Given the description of an element on the screen output the (x, y) to click on. 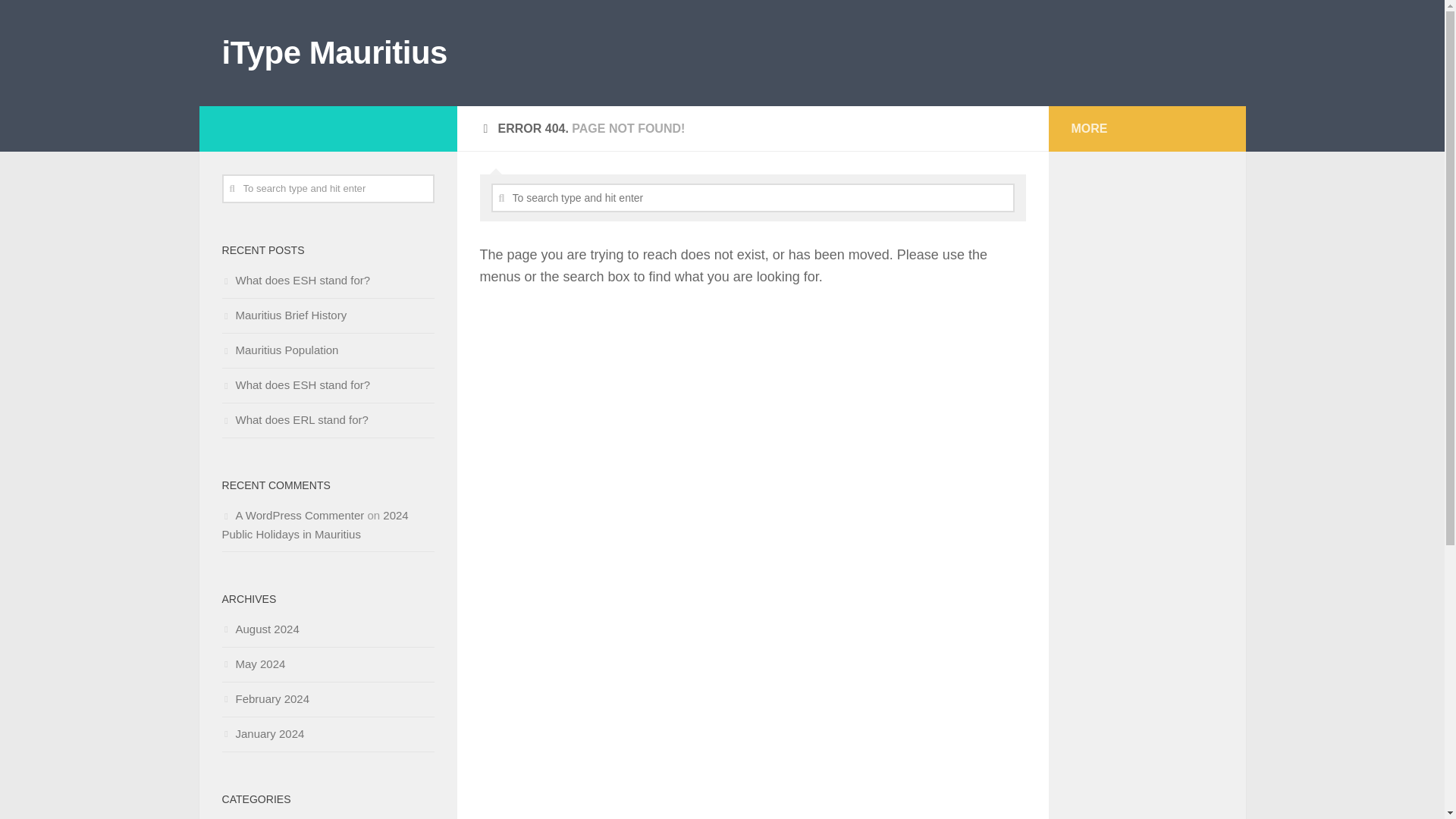
To search type and hit enter (327, 188)
What does ESH stand for? (295, 384)
To search type and hit enter (753, 197)
To search type and hit enter (753, 197)
Mauritius Population (279, 349)
February 2024 (264, 698)
May 2024 (253, 663)
August 2024 (259, 628)
What does ERL stand for? (294, 419)
What does ESH stand for? (295, 279)
